Given the description of an element on the screen output the (x, y) to click on. 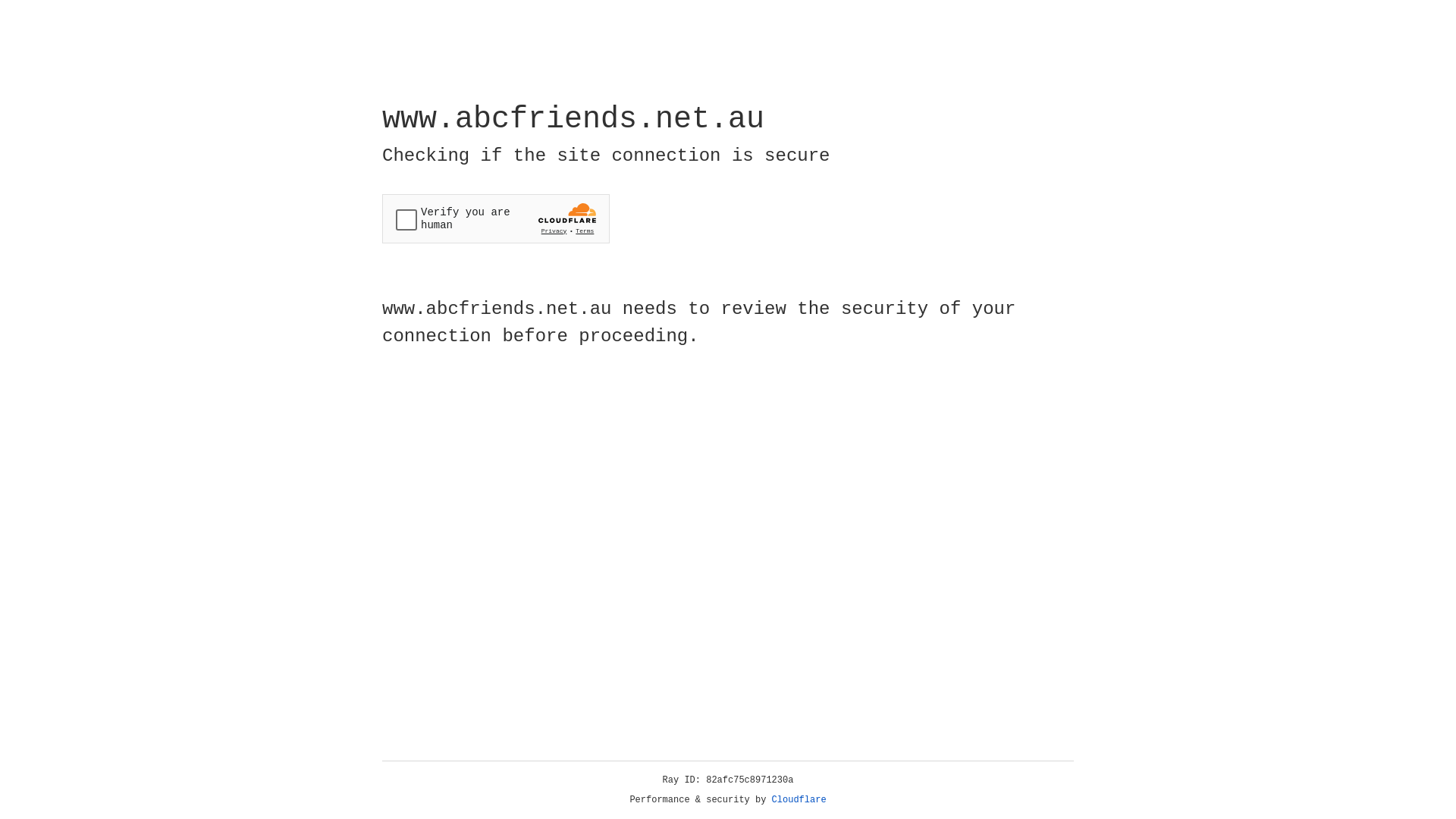
Widget containing a Cloudflare security challenge Element type: hover (495, 218)
Cloudflare Element type: text (798, 799)
